Given the description of an element on the screen output the (x, y) to click on. 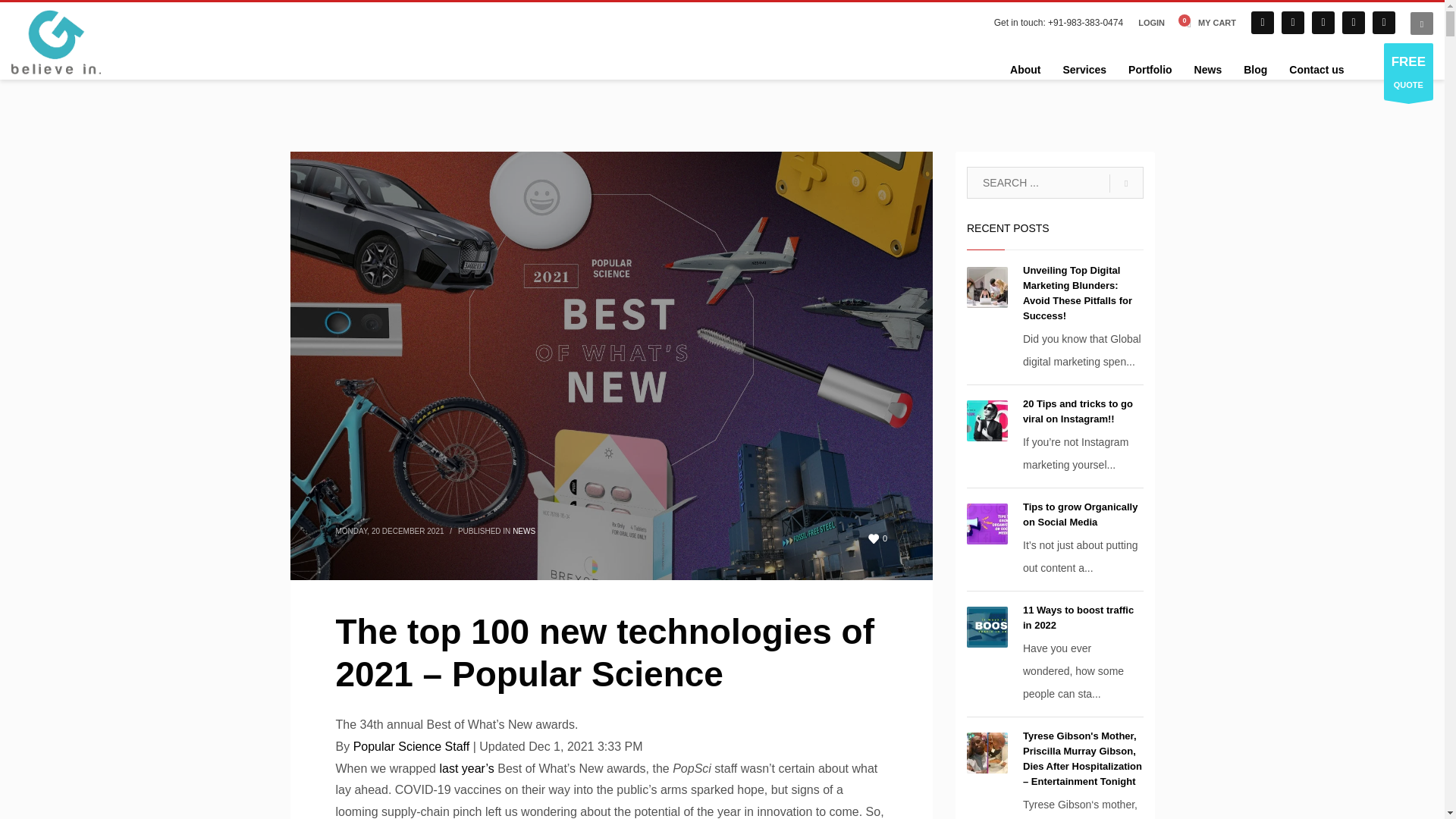
MY CART (1207, 22)
Services (1083, 69)
About (1025, 69)
Contact us (1315, 69)
Portfolio (1149, 69)
LOGIN (1151, 22)
believe in (55, 41)
View your shopping cart (1207, 22)
NEWS (523, 531)
facebook (1262, 22)
Blog (1255, 69)
News (1208, 69)
